Given the description of an element on the screen output the (x, y) to click on. 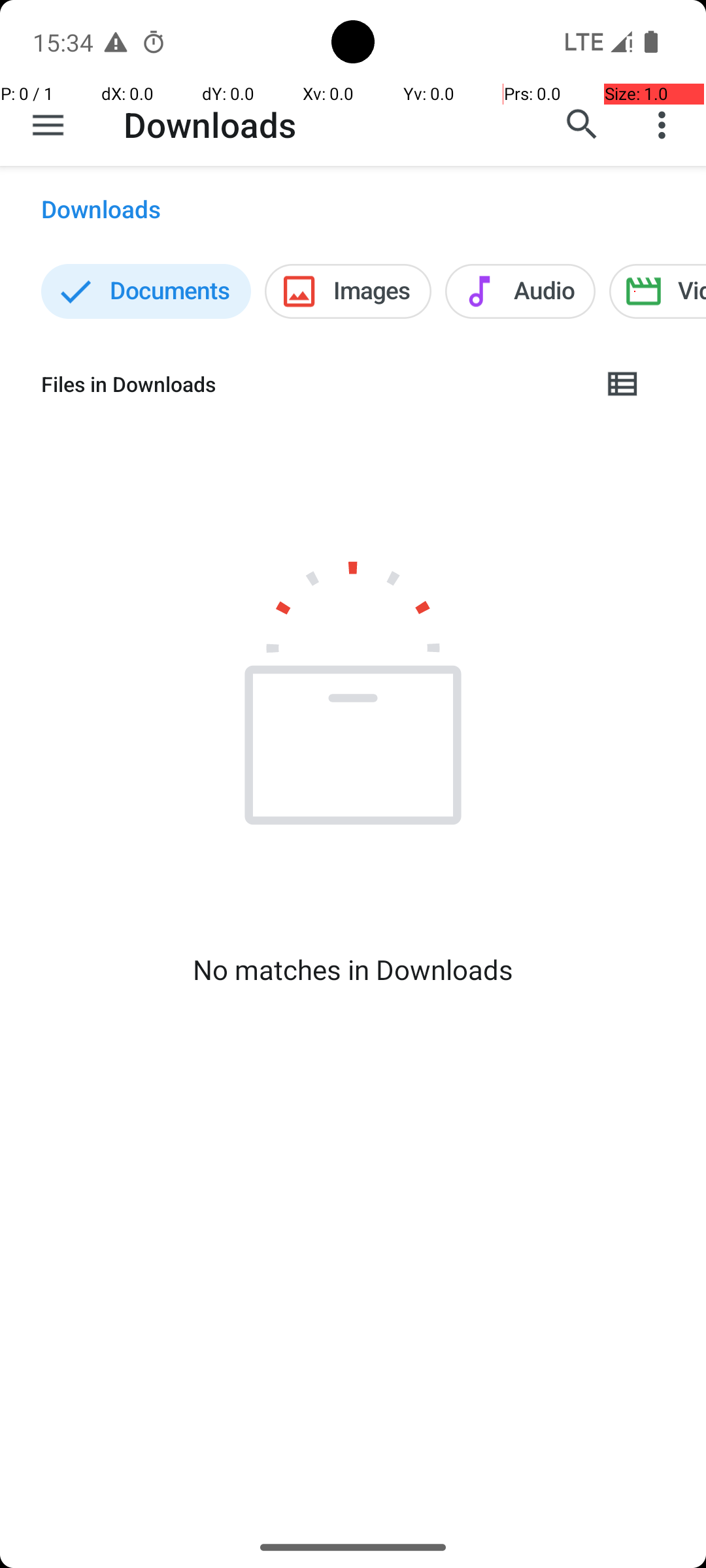
No matches in Downloads Element type: android.widget.TextView (352, 968)
